Given the description of an element on the screen output the (x, y) to click on. 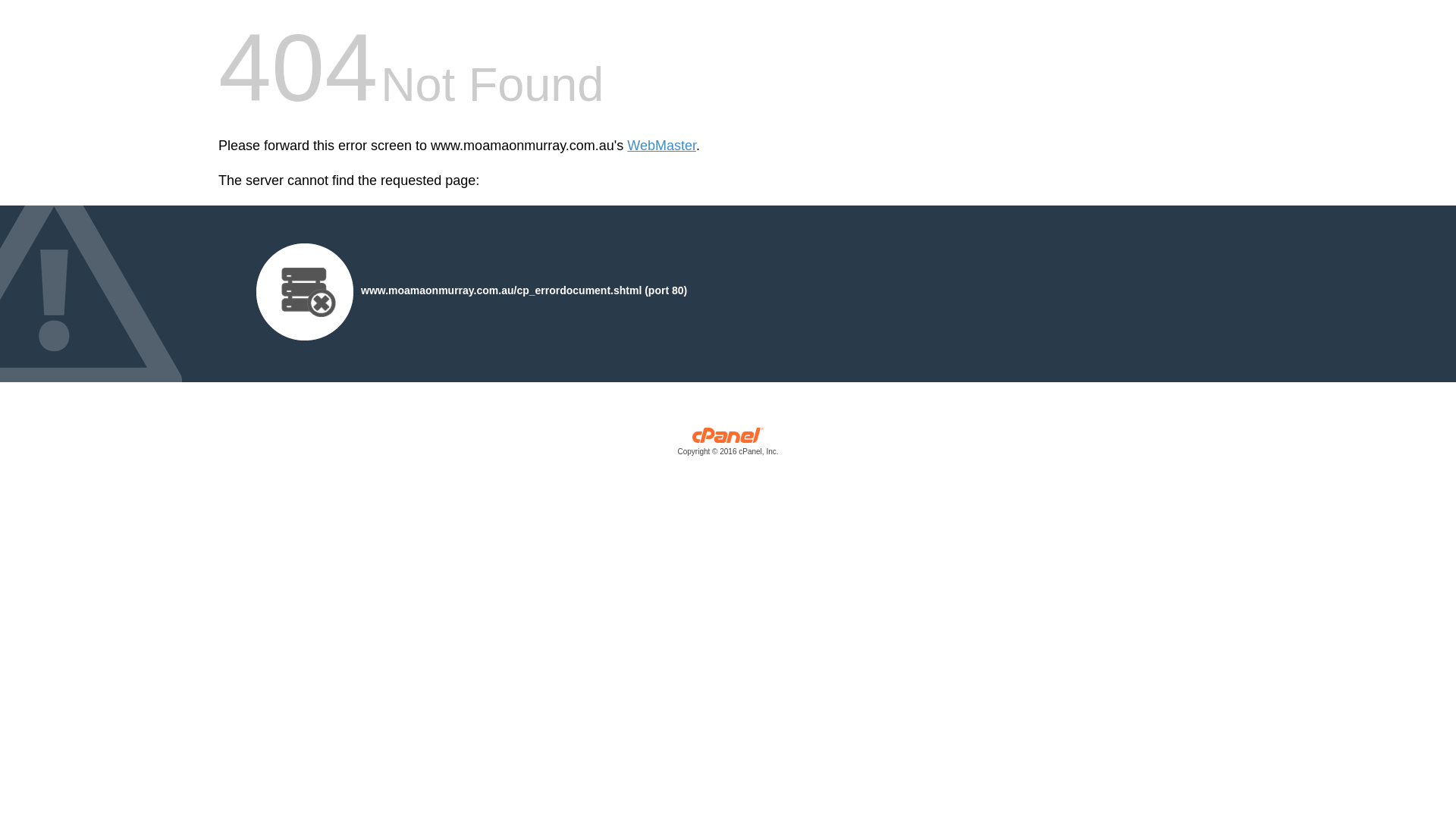
WebMaster Element type: text (661, 145)
